Given the description of an element on the screen output the (x, y) to click on. 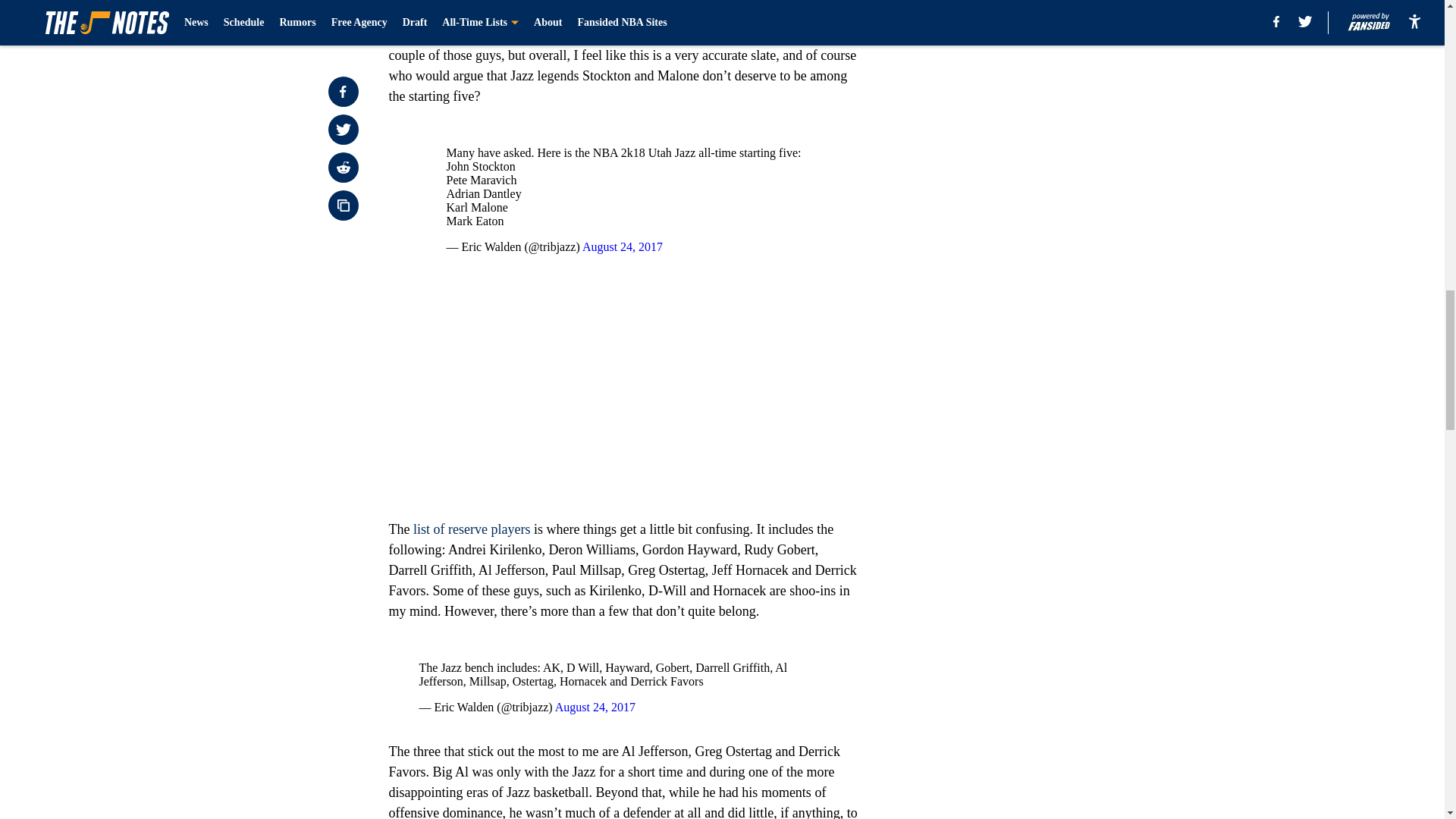
list of reserve players (471, 529)
August 24, 2017 (622, 246)
August 24, 2017 (594, 707)
